Given the description of an element on the screen output the (x, y) to click on. 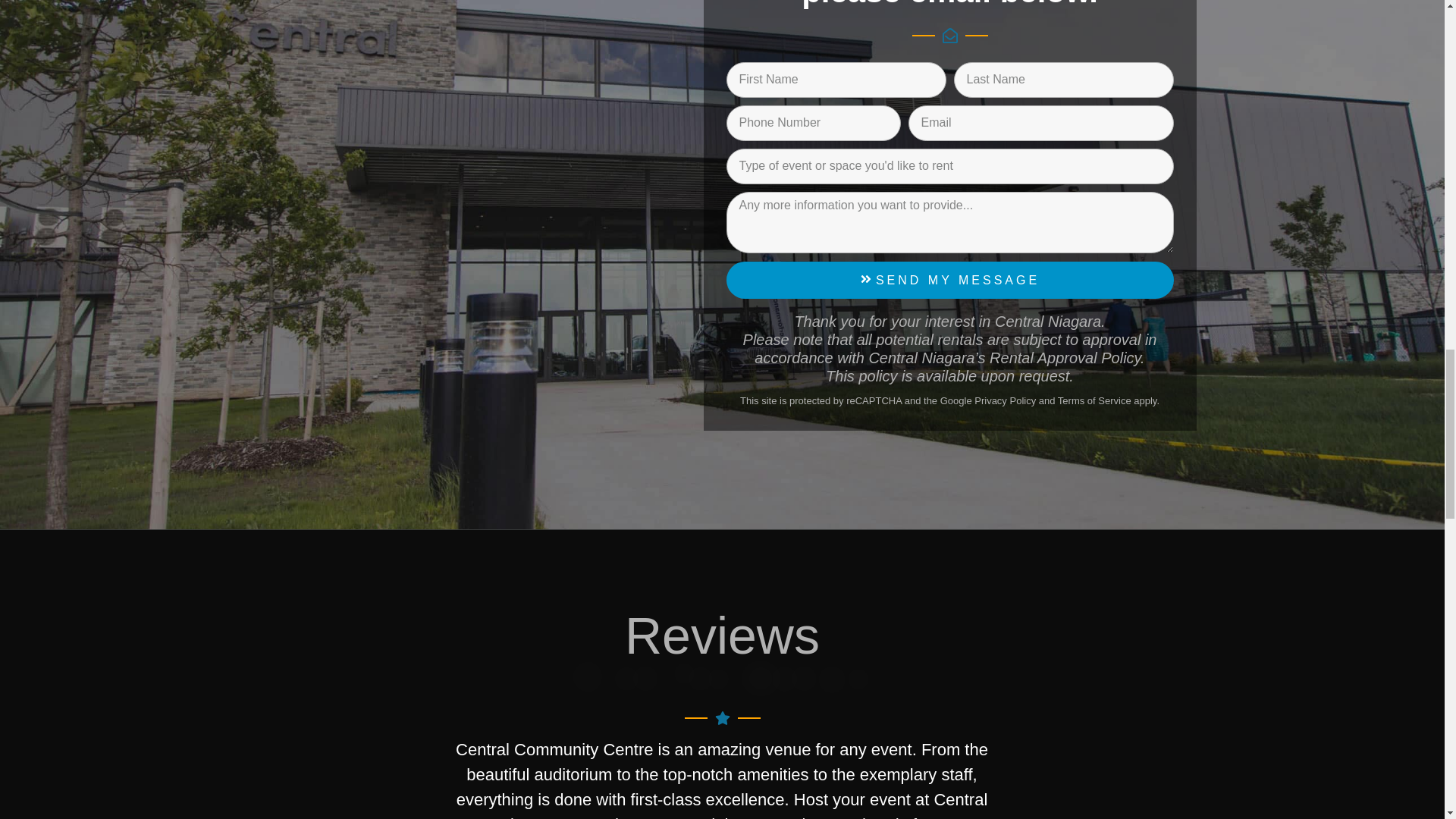
SEND MY MESSAGE (949, 279)
Privacy Policy (1004, 400)
Terms of Service (1094, 400)
